Given the description of an element on the screen output the (x, y) to click on. 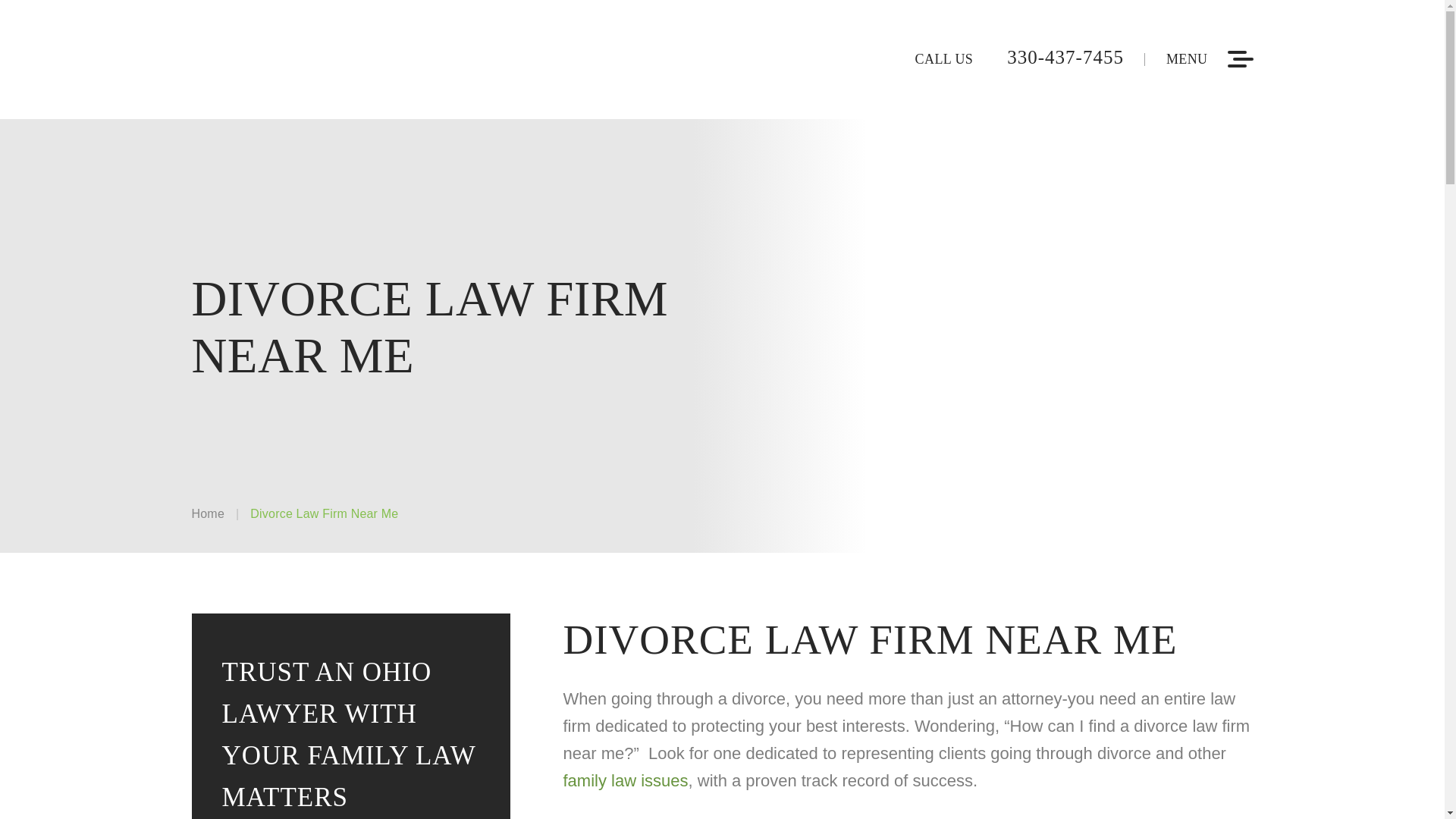
MENU (1209, 58)
Go to Fout Law Office. (207, 513)
family law issues (624, 780)
330-437-7455 (1048, 56)
Home (207, 513)
